Given the description of an element on the screen output the (x, y) to click on. 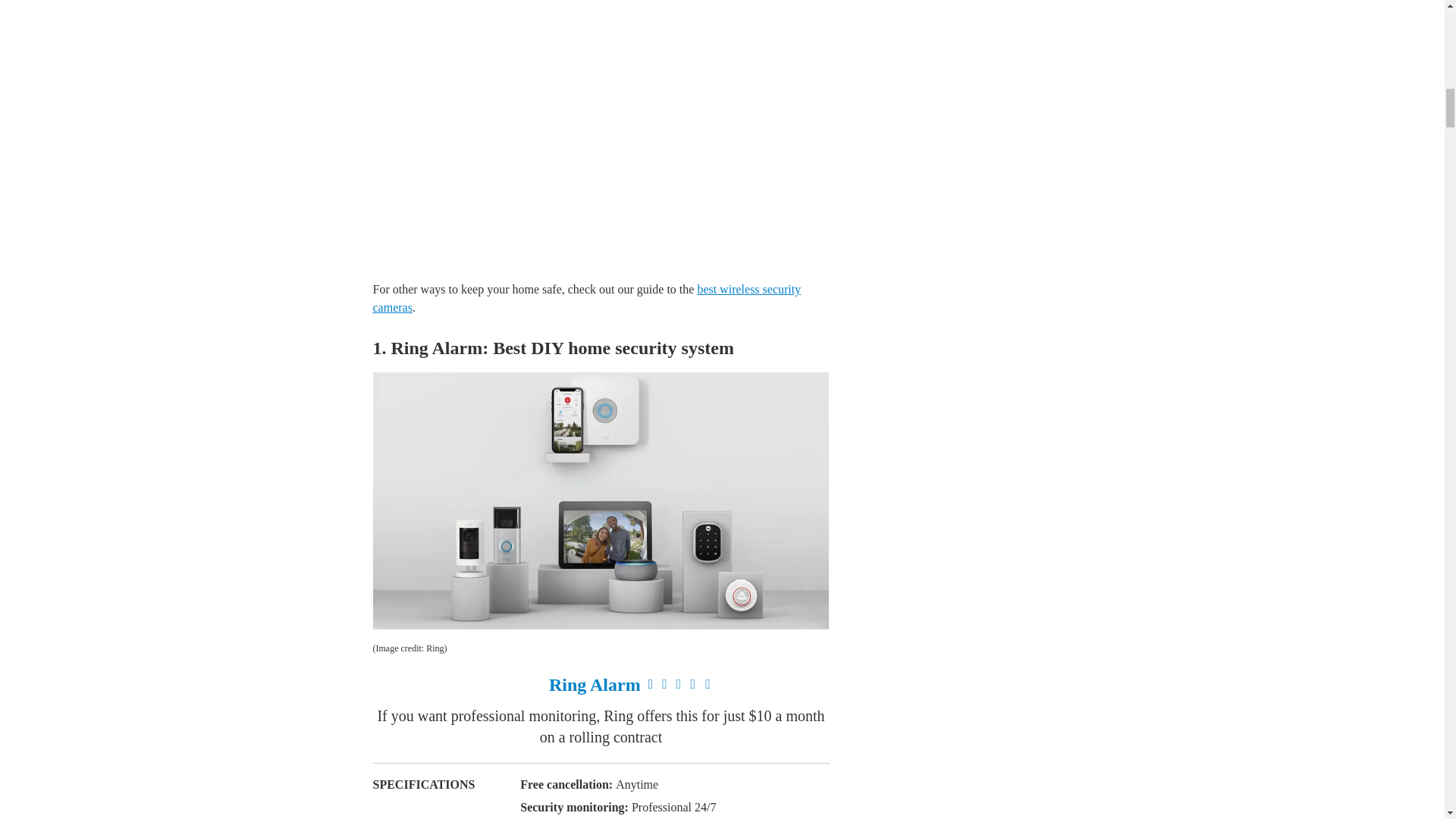
best wireless security cameras (587, 297)
Ring Alarm (594, 684)
